Given the description of an element on the screen output the (x, y) to click on. 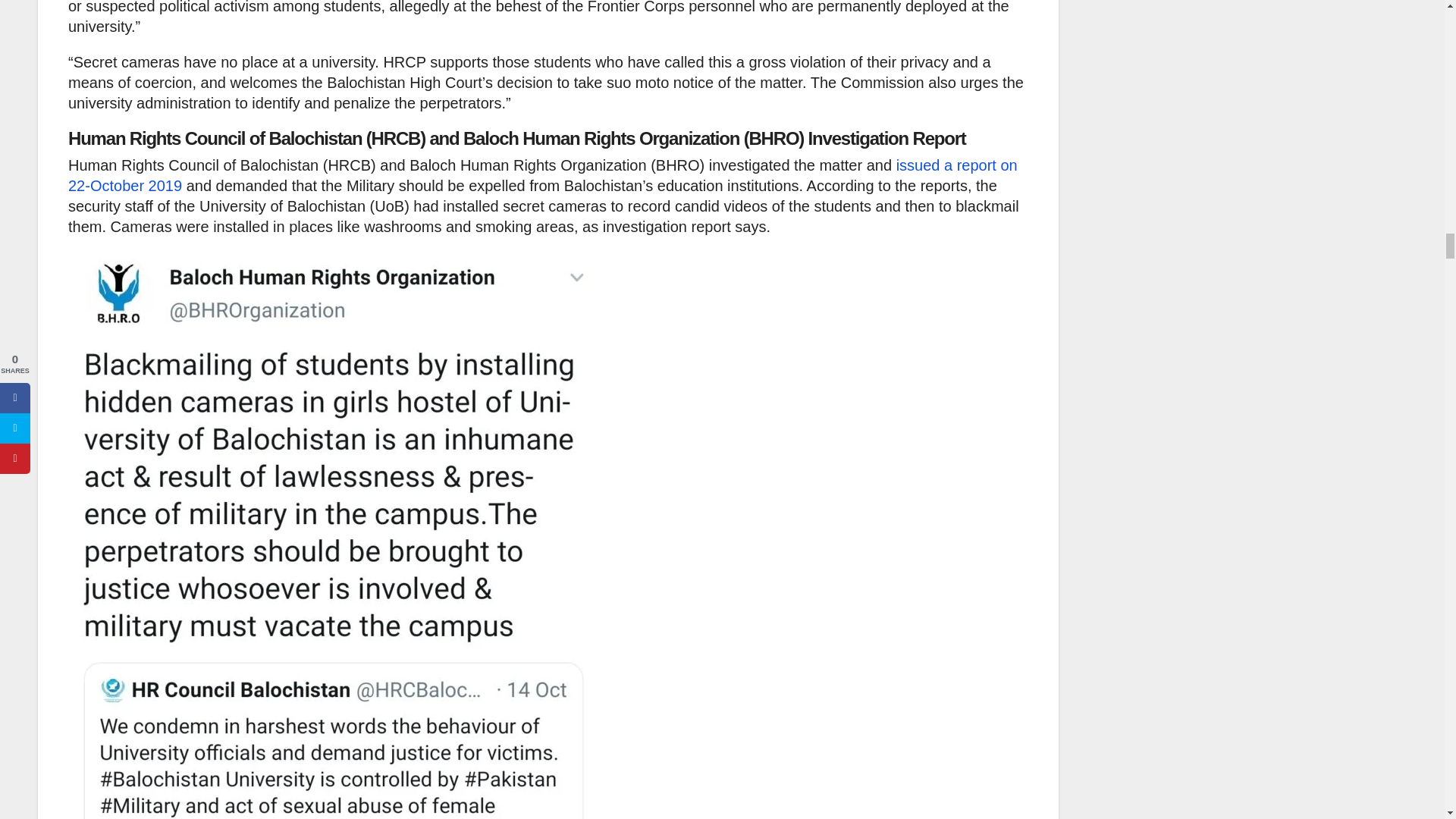
issued a report on 22-October 2019 (542, 175)
